Given the description of an element on the screen output the (x, y) to click on. 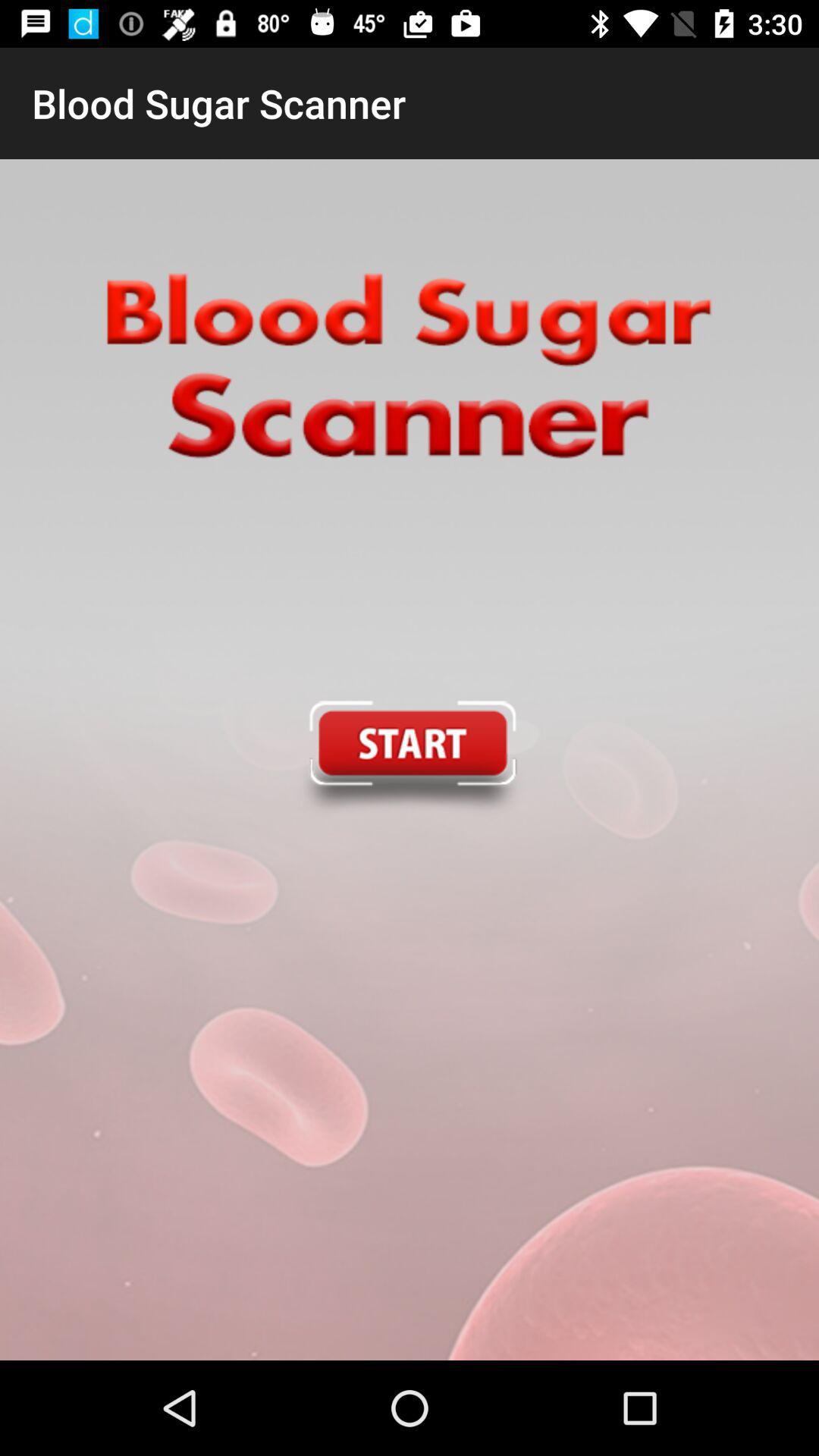
start button (409, 759)
